Given the description of an element on the screen output the (x, y) to click on. 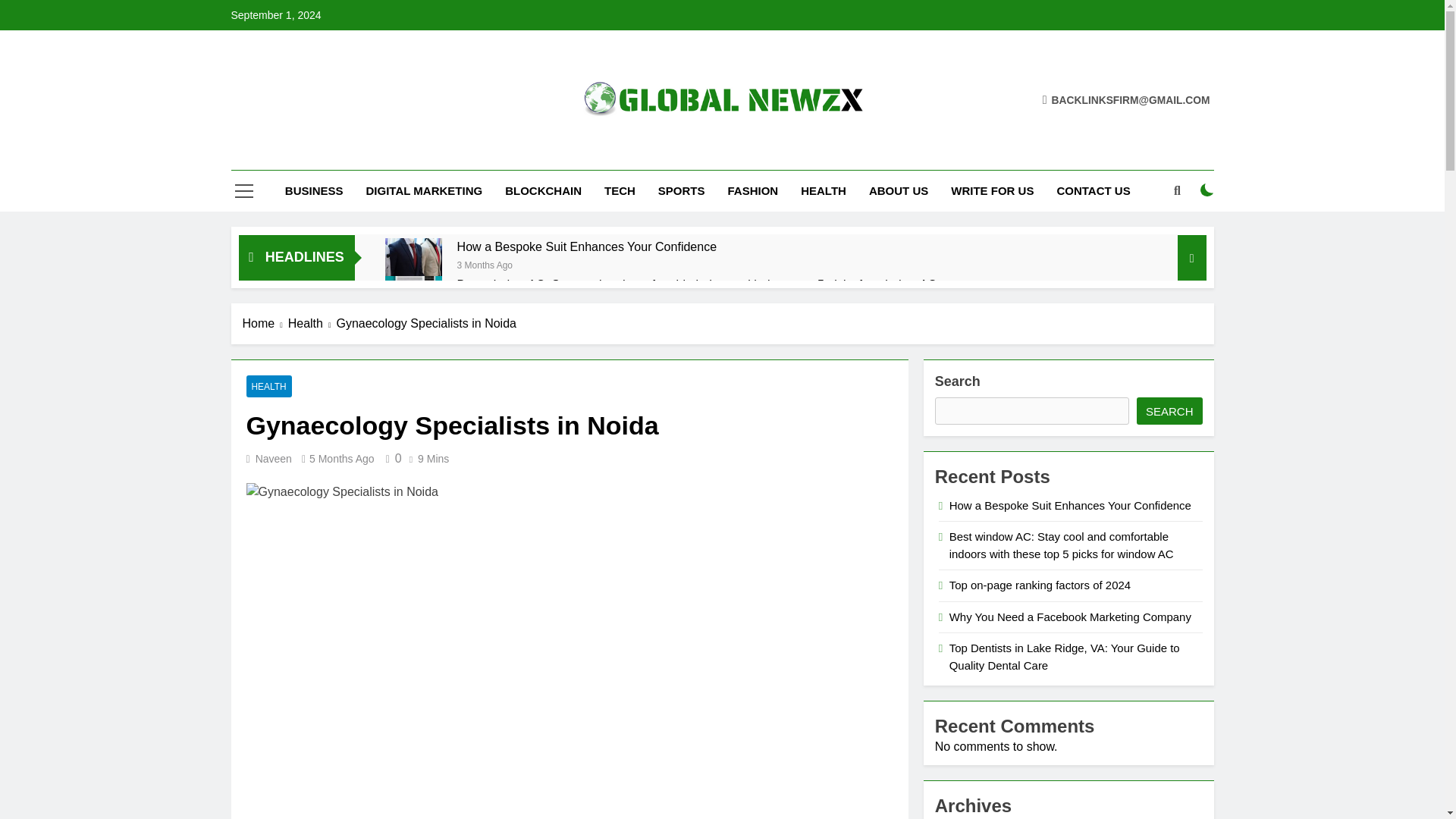
WRITE FOR US (992, 190)
ABOUT US (898, 190)
TECH (619, 190)
on (1206, 190)
DIGITAL MARKETING (425, 190)
BUSINESS (314, 190)
How a Bespoke Suit Enhances Your Confidence (587, 246)
CONTACT US (1093, 190)
